Given the description of an element on the screen output the (x, y) to click on. 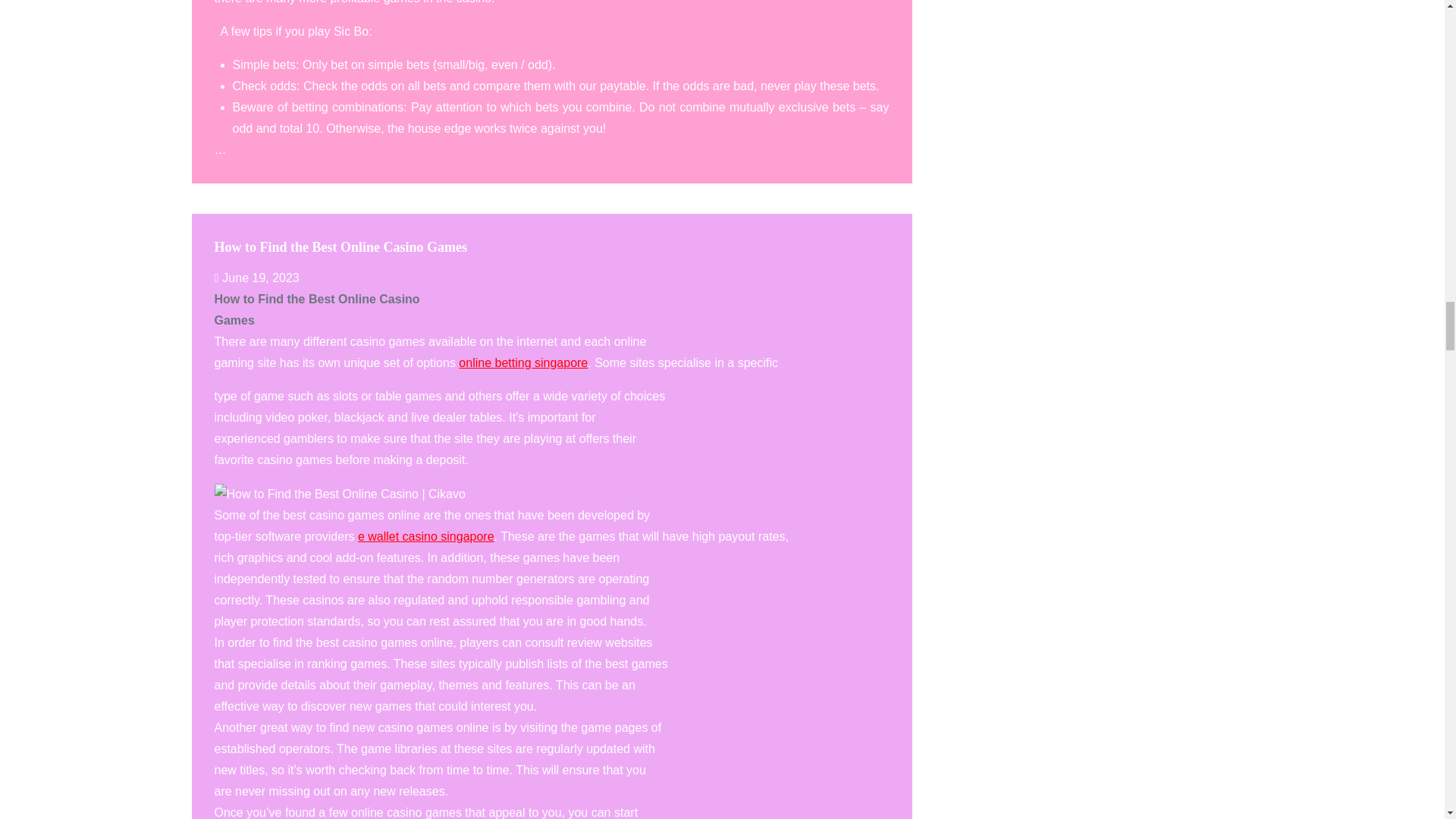
e wallet casino singapore (426, 535)
How to Find the Best Online Casino Games (340, 246)
June 19, 2023 (256, 277)
online betting singapore (523, 362)
